Given the description of an element on the screen output the (x, y) to click on. 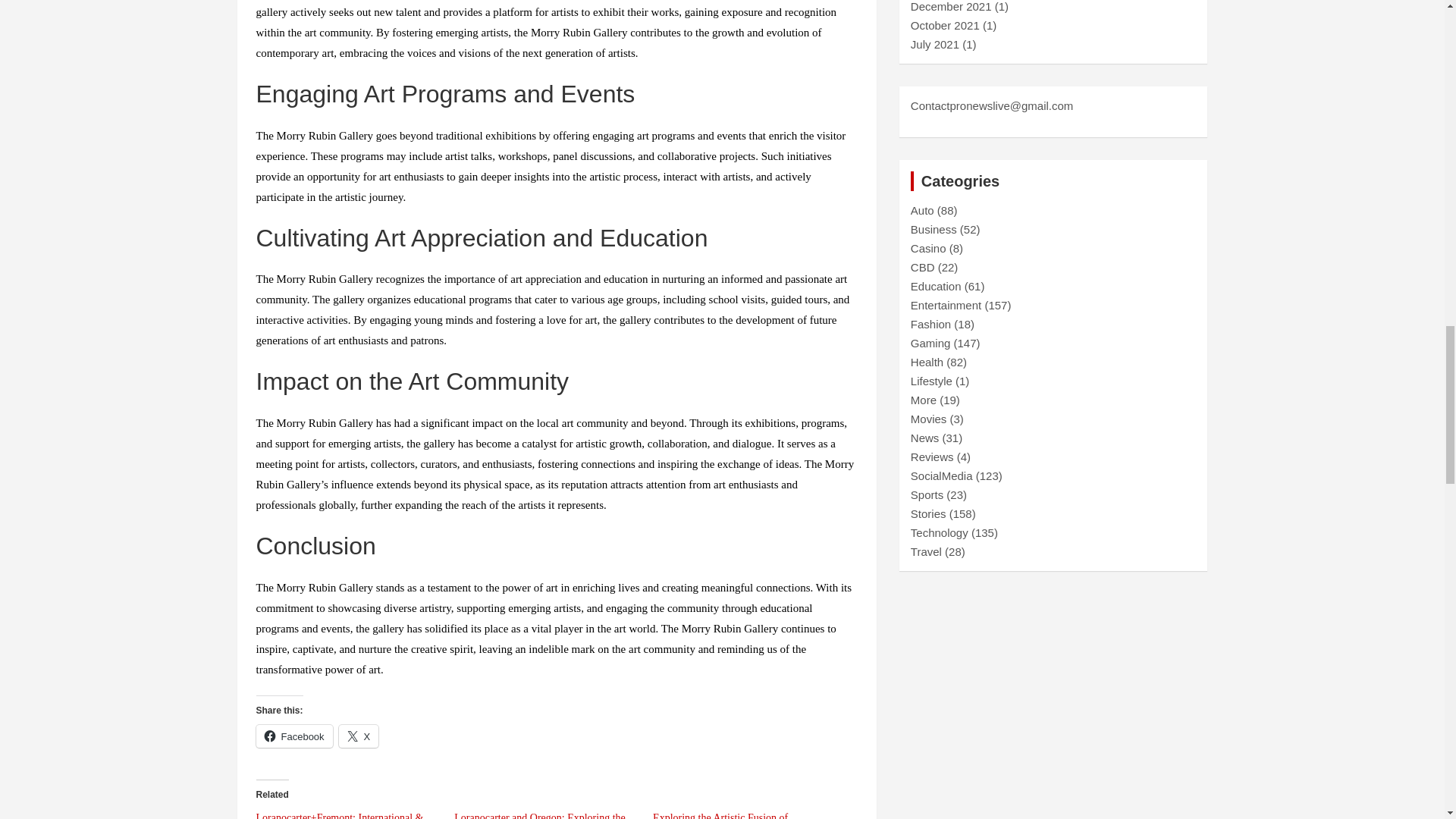
Click to share on X (358, 735)
Click to share on Facebook (294, 735)
